Given the description of an element on the screen output the (x, y) to click on. 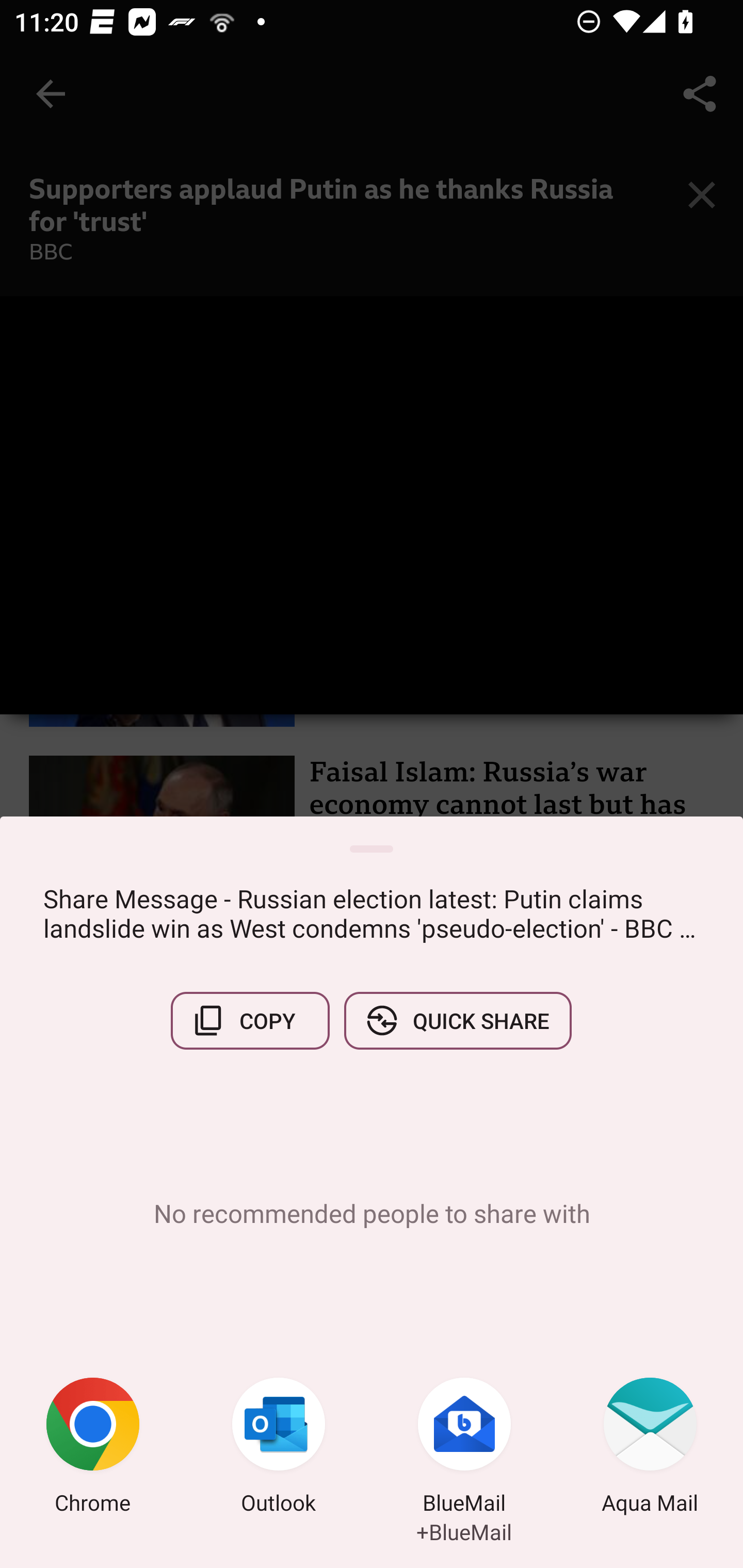
COPY (249, 1020)
QUICK SHARE (457, 1020)
Chrome (92, 1448)
Outlook (278, 1448)
BlueMail +BlueMail (464, 1448)
Aqua Mail (650, 1448)
